Given the description of an element on the screen output the (x, y) to click on. 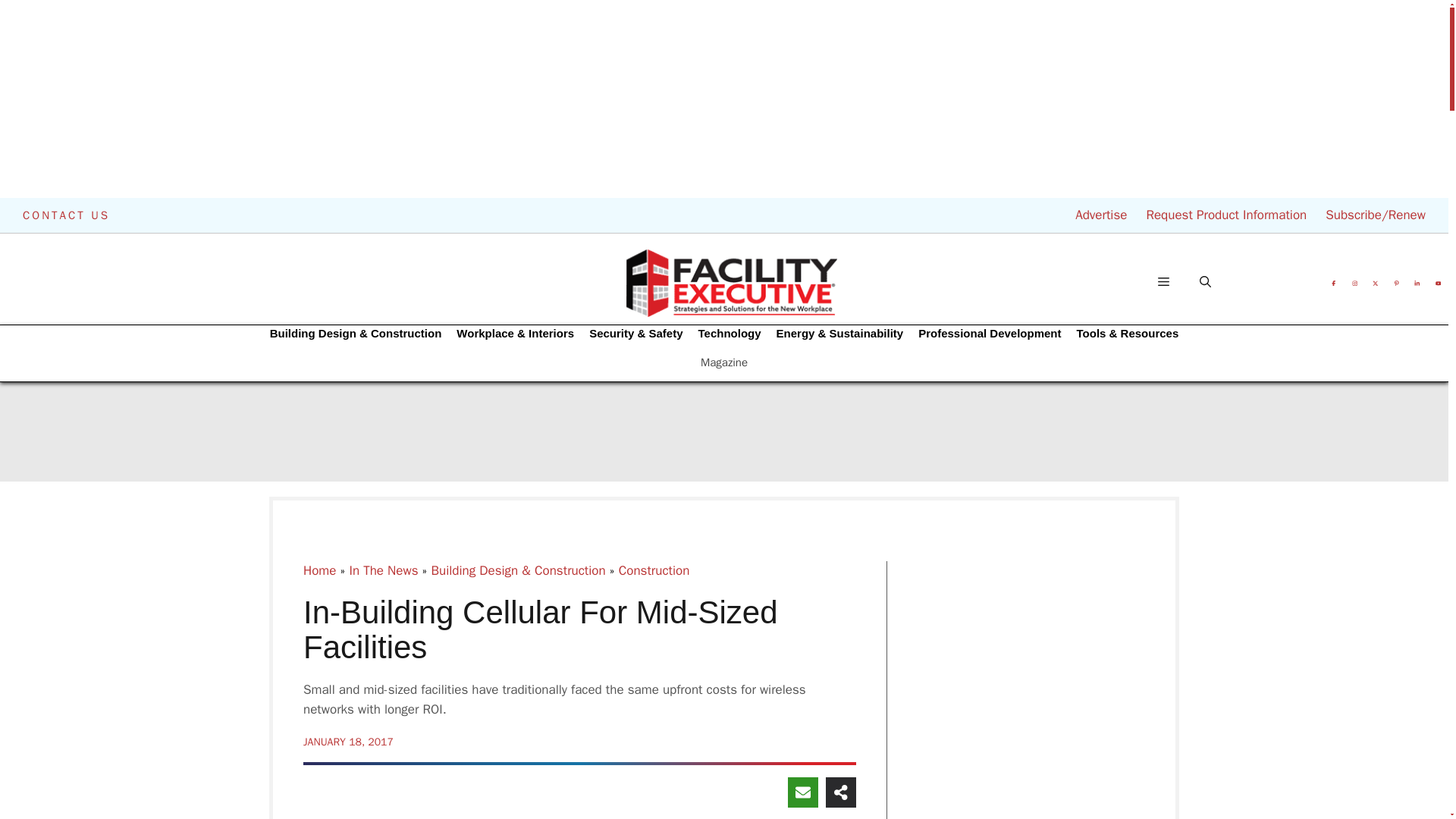
Advertise (1100, 215)
Request Product Information (1225, 215)
Facility Executive Magazine (731, 281)
CONTACT US (66, 214)
Technology (729, 333)
